Given the description of an element on the screen output the (x, y) to click on. 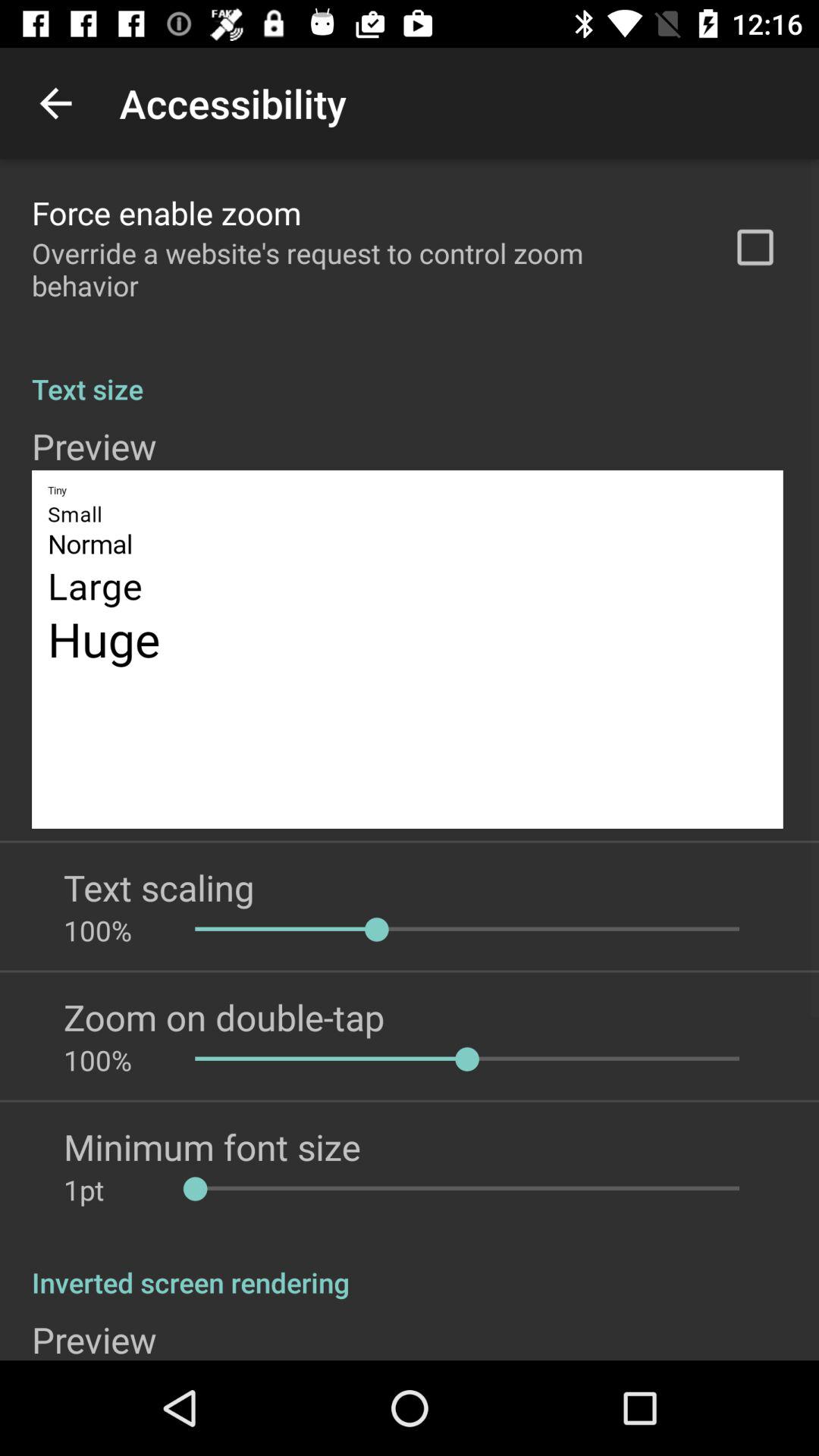
turn off minimum font size item (211, 1146)
